Given the description of an element on the screen output the (x, y) to click on. 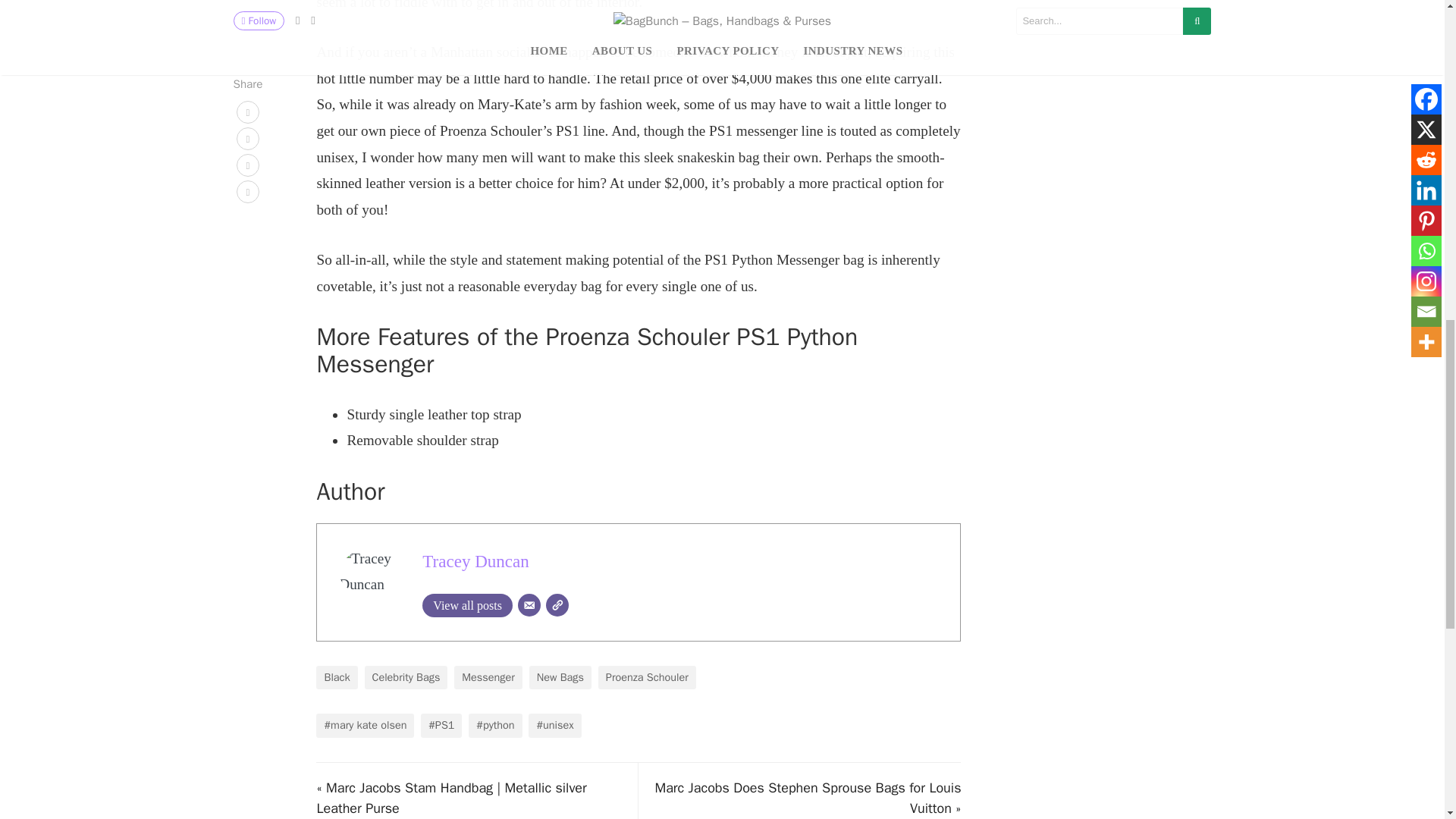
View all posts (467, 605)
View all posts (467, 605)
Tracey Duncan (475, 560)
Black (335, 677)
Tracey Duncan (475, 560)
